Given the description of an element on the screen output the (x, y) to click on. 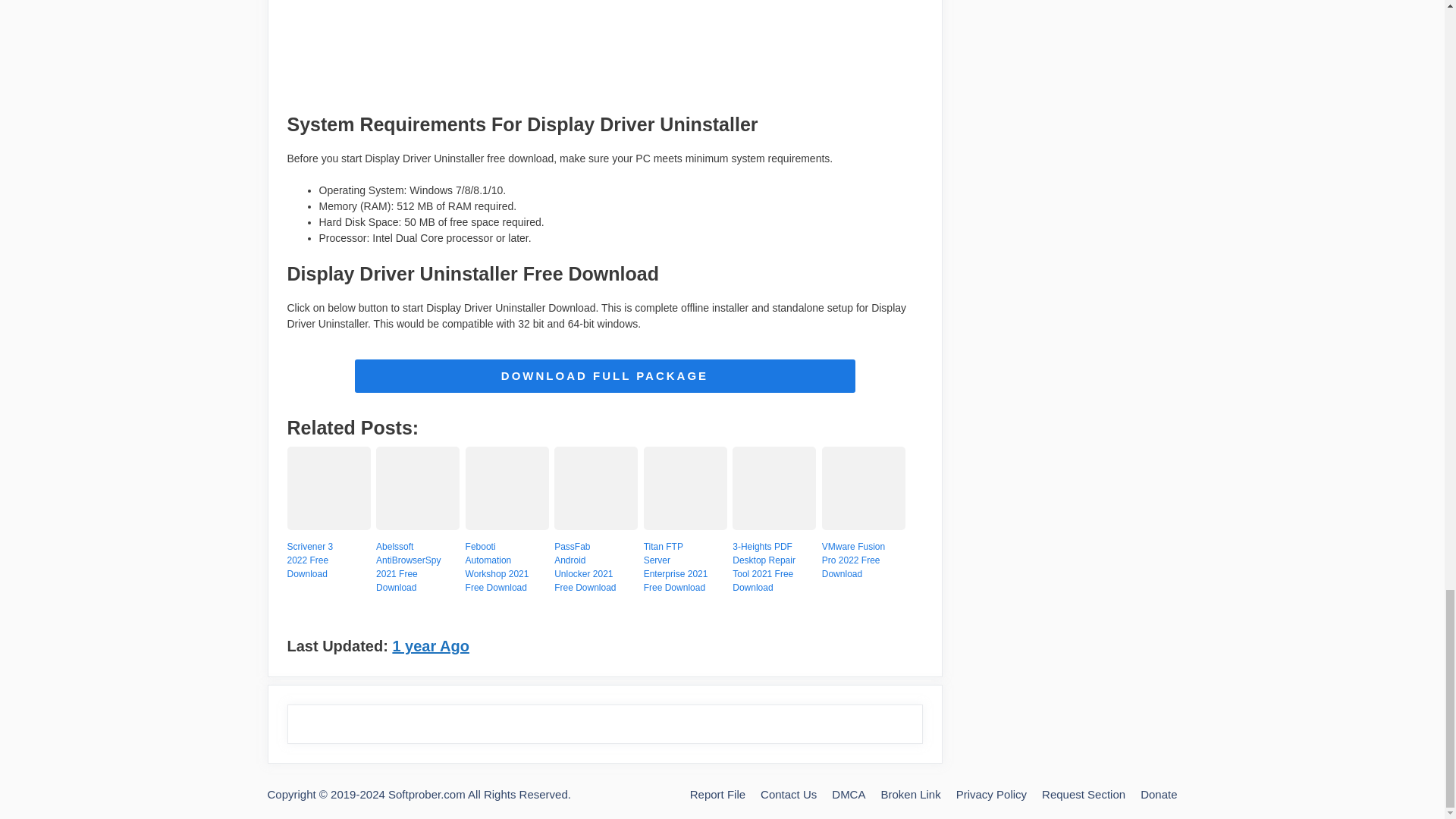
3-Heights PDF Desktop Repair Tool 2021 Free Download (773, 526)
Abelssoft AntiBrowserSpy 2021 Free Download (417, 526)
VMware Fusion Pro 2022 Free Download (855, 559)
Febooti Automation Workshop 2021 Free Download (506, 526)
Abelssoft AntiBrowserSpy 2021 Free Download (409, 566)
Febooti Automation Workshop 2021 Free Download (499, 566)
Titan FTP Server Enterprise 2021 Free Download (677, 566)
3-Heights PDF Desktop Repair Tool 2021 Free Download (766, 566)
PassFab Android Unlocker 2021 Free Download (588, 566)
Scrivener 3 2022  Free Download (327, 526)
Titan FTP Server Enterprise 2021 Free Download (684, 526)
DOWNLOAD FULL PACKAGE (605, 376)
DOWNLOAD FULL PACKAGE (605, 376)
PassFab Android Unlocker 2021 Free Download (595, 526)
